Given the description of an element on the screen output the (x, y) to click on. 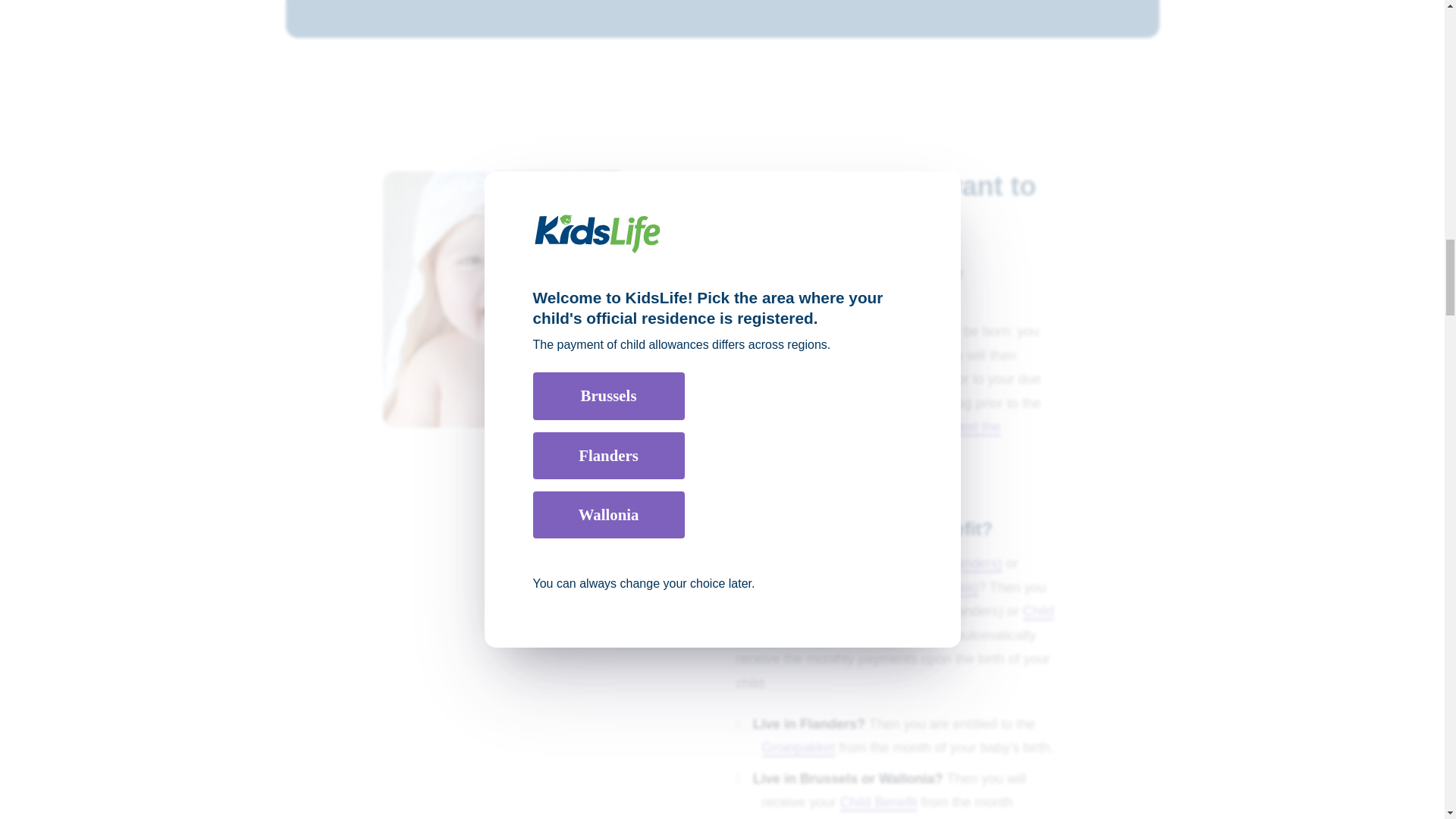
Startbedrag: Maternity Allowance when your child is born (841, 378)
Child Benefits (878, 801)
Startbedrag: Maternity Allowance when your child is born (867, 438)
Groeipakket - Child Benefit in Flanders (900, 611)
Startbedrag: Maternity Allowance when your child is born (917, 587)
Child Benefits (893, 622)
Groeipakket - Child Benefit in Flanders (797, 747)
